Given the description of an element on the screen output the (x, y) to click on. 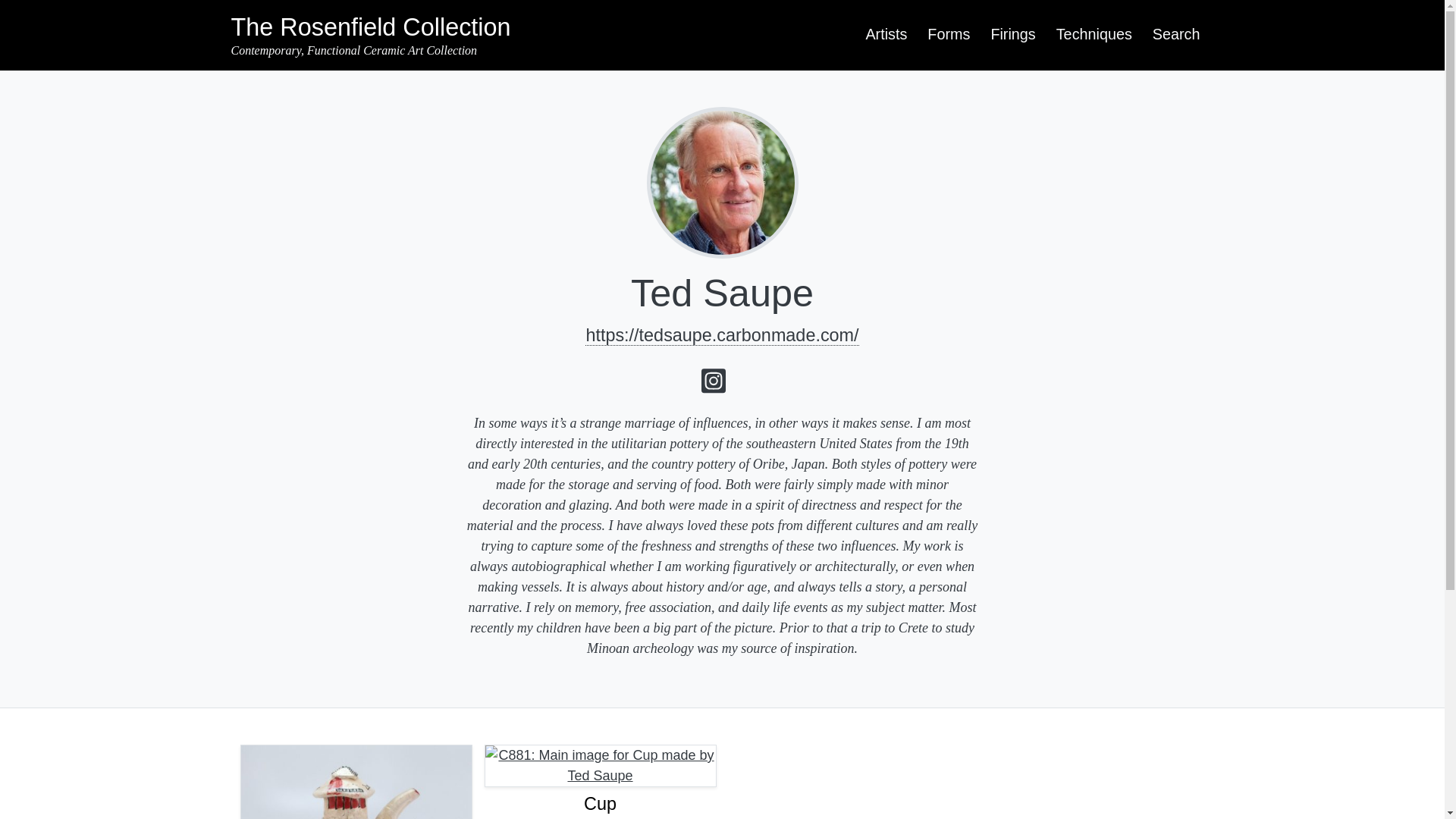
Forms (948, 34)
Firings (1013, 34)
The Rosenfield Collection (370, 26)
Techniques (1093, 34)
Artists (886, 34)
Cup (599, 803)
Search (1176, 34)
